Given the description of an element on the screen output the (x, y) to click on. 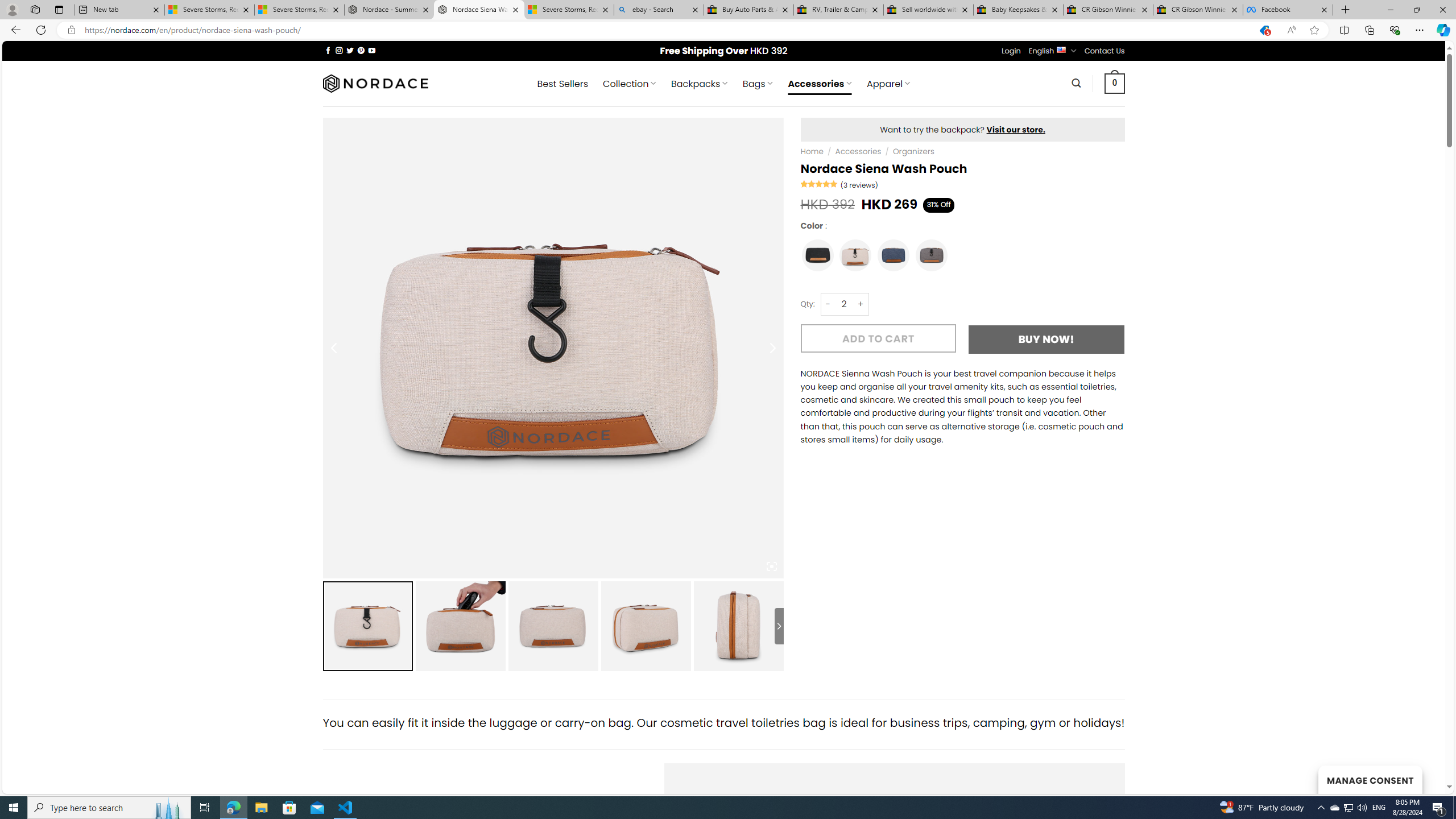
Follow on Instagram (338, 49)
Follow on Pinterest (360, 49)
Refresh (40, 29)
New Tab (1346, 9)
Nordace Siena Wash Pouch quantity (843, 303)
Contact Us (1104, 50)
Baby Keepsakes & Announcements for sale | eBay (1018, 9)
(3 reviews) (858, 184)
 Best Sellers (562, 83)
Add this page to favorites (Ctrl+D) (1314, 29)
